Given the description of an element on the screen output the (x, y) to click on. 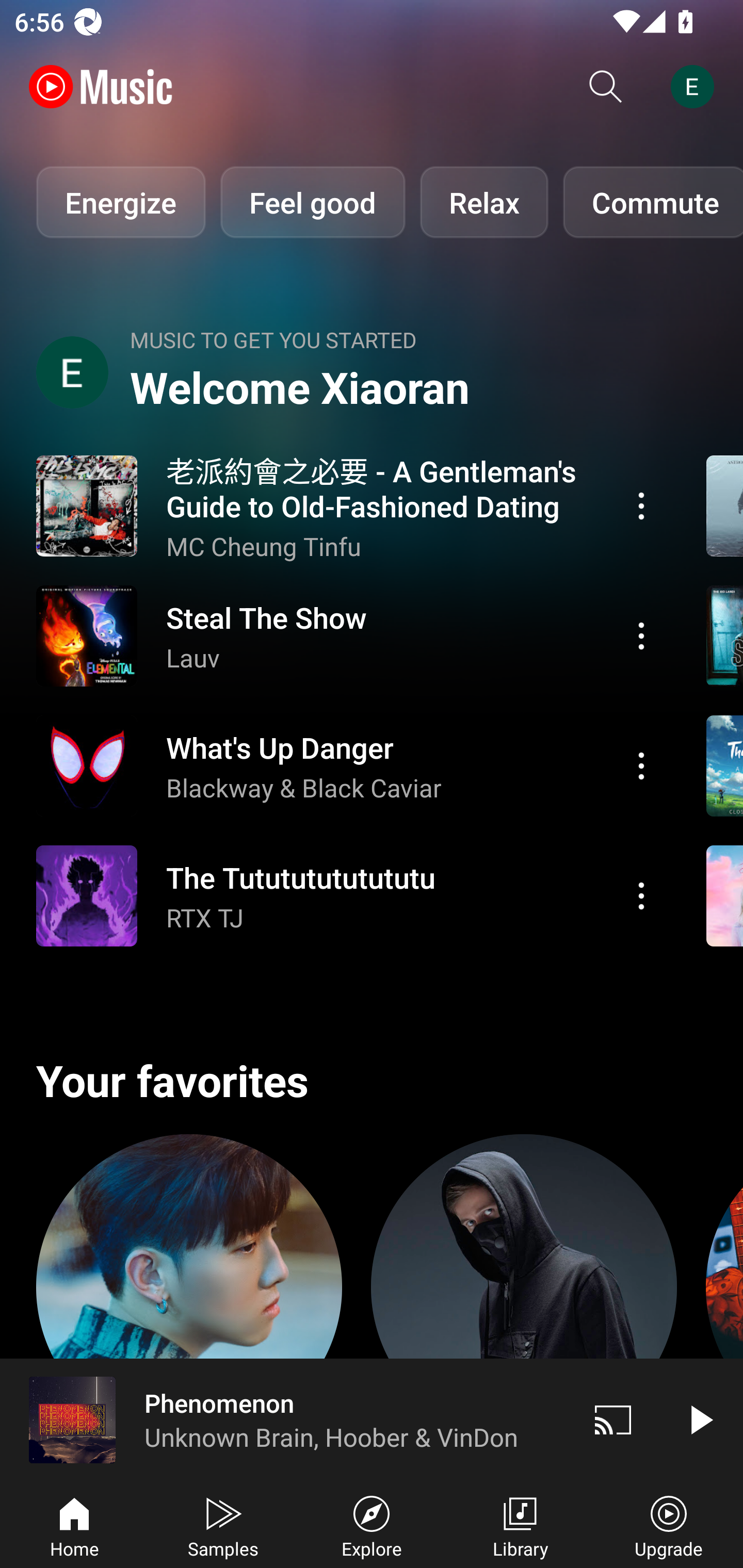
Search (605, 86)
Account (696, 86)
Action menu (349, 505)
Action menu (641, 505)
Action menu (349, 635)
Action menu (641, 635)
Action menu (349, 765)
Action menu (641, 765)
Action menu (349, 896)
Action menu (641, 896)
Phenomenon Unknown Brain, Hoober & VinDon (284, 1419)
Cast. Disconnected (612, 1419)
Play video (699, 1419)
Home (74, 1524)
Samples (222, 1524)
Explore (371, 1524)
Library (519, 1524)
Upgrade (668, 1524)
